Given the description of an element on the screen output the (x, y) to click on. 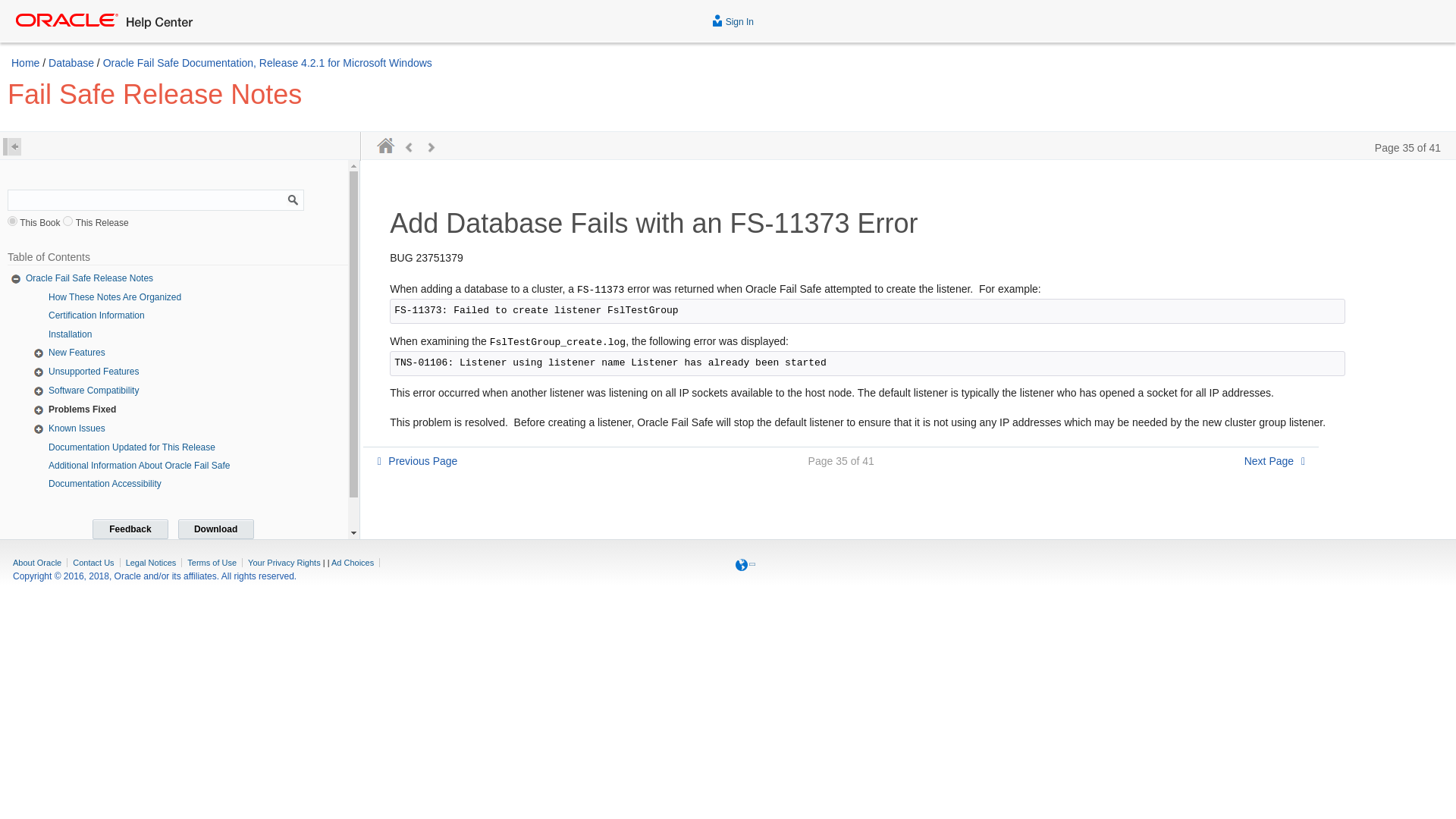
Installation (69, 334)
Home (25, 62)
Software Compatibility (93, 389)
Problems Fixed (82, 409)
library (67, 221)
Unsupported Features (93, 371)
Oracle Fail Safe Release Notes (89, 277)
Go to previous page (416, 460)
Search (291, 199)
Go to next page (1274, 460)
Database (71, 62)
New Features (76, 352)
Sign In (729, 18)
OFSRN (12, 221)
